Given the description of an element on the screen output the (x, y) to click on. 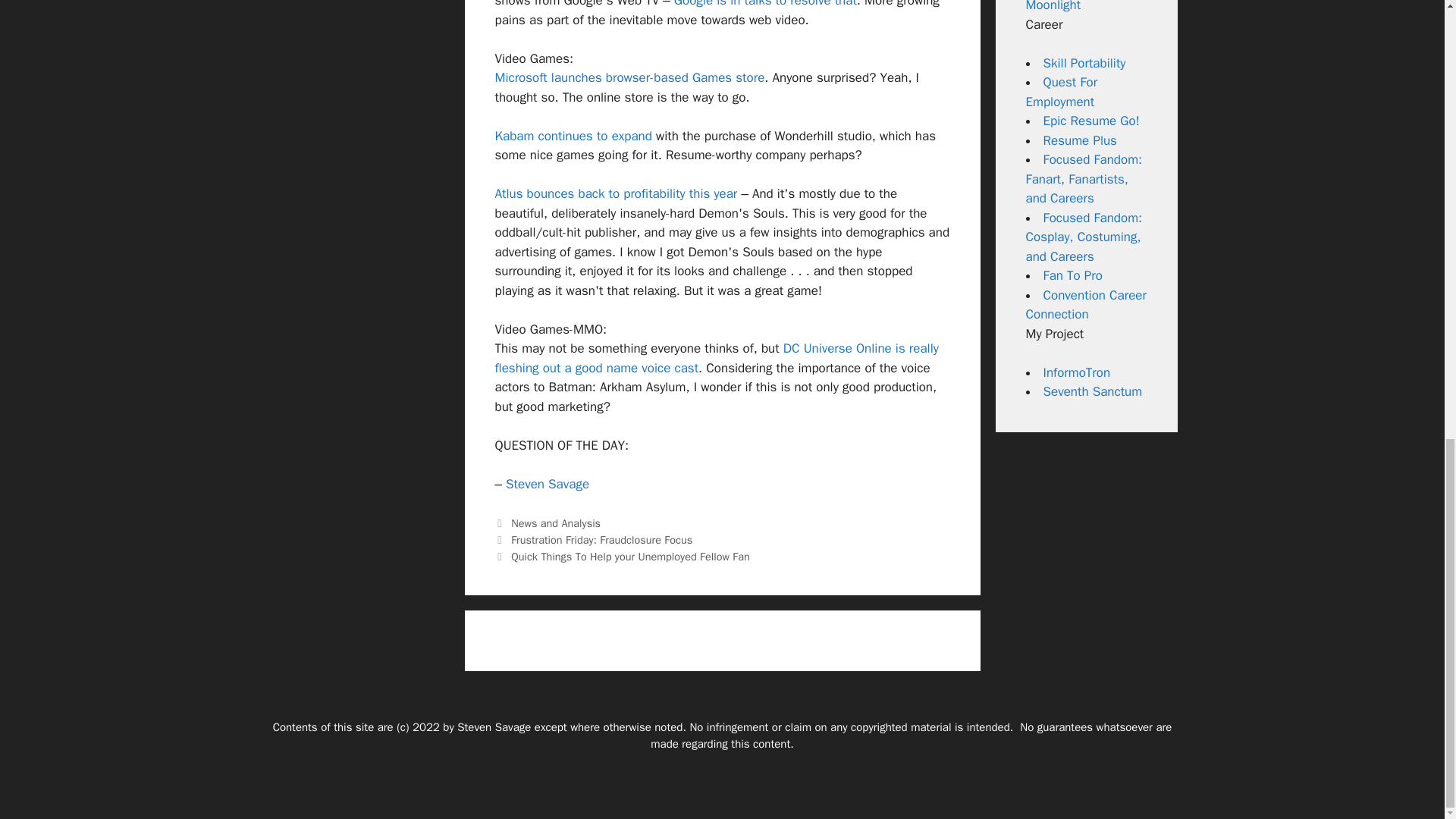
Quick Things To Help your Unemployed Fellow Fan (630, 556)
Atlus bounces back to profitability this year (615, 193)
Frustration Friday: Fraudclosure Focus (602, 540)
News and Analysis (555, 522)
Steven Savage (547, 483)
Google is in talks to resolve that (765, 4)
Kabam continues to expand (572, 135)
Scroll back to top (1406, 588)
Microsoft launches browser-based Games store (629, 77)
